Given the description of an element on the screen output the (x, y) to click on. 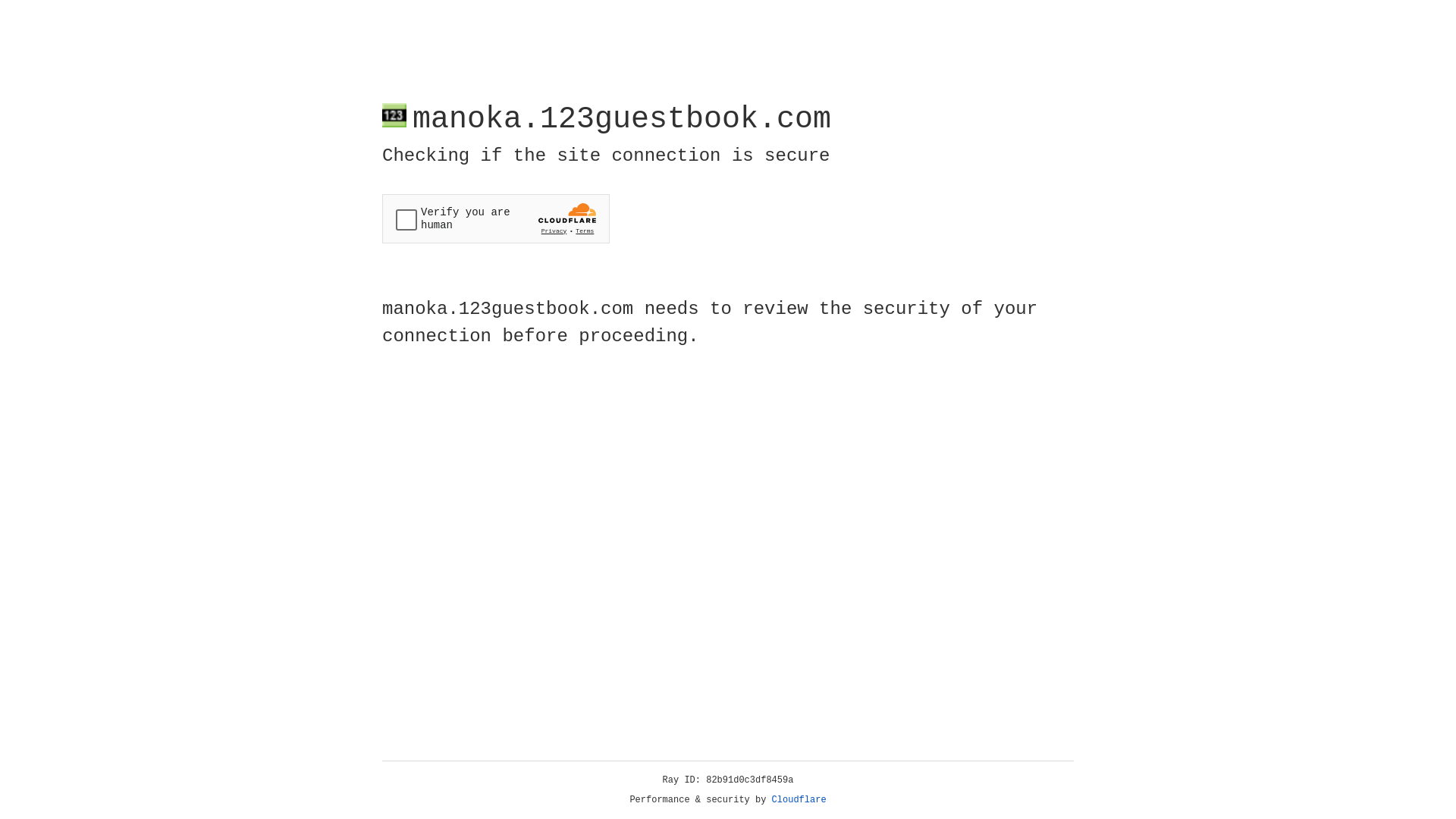
Widget containing a Cloudflare security challenge Element type: hover (495, 218)
Cloudflare Element type: text (798, 799)
